Given the description of an element on the screen output the (x, y) to click on. 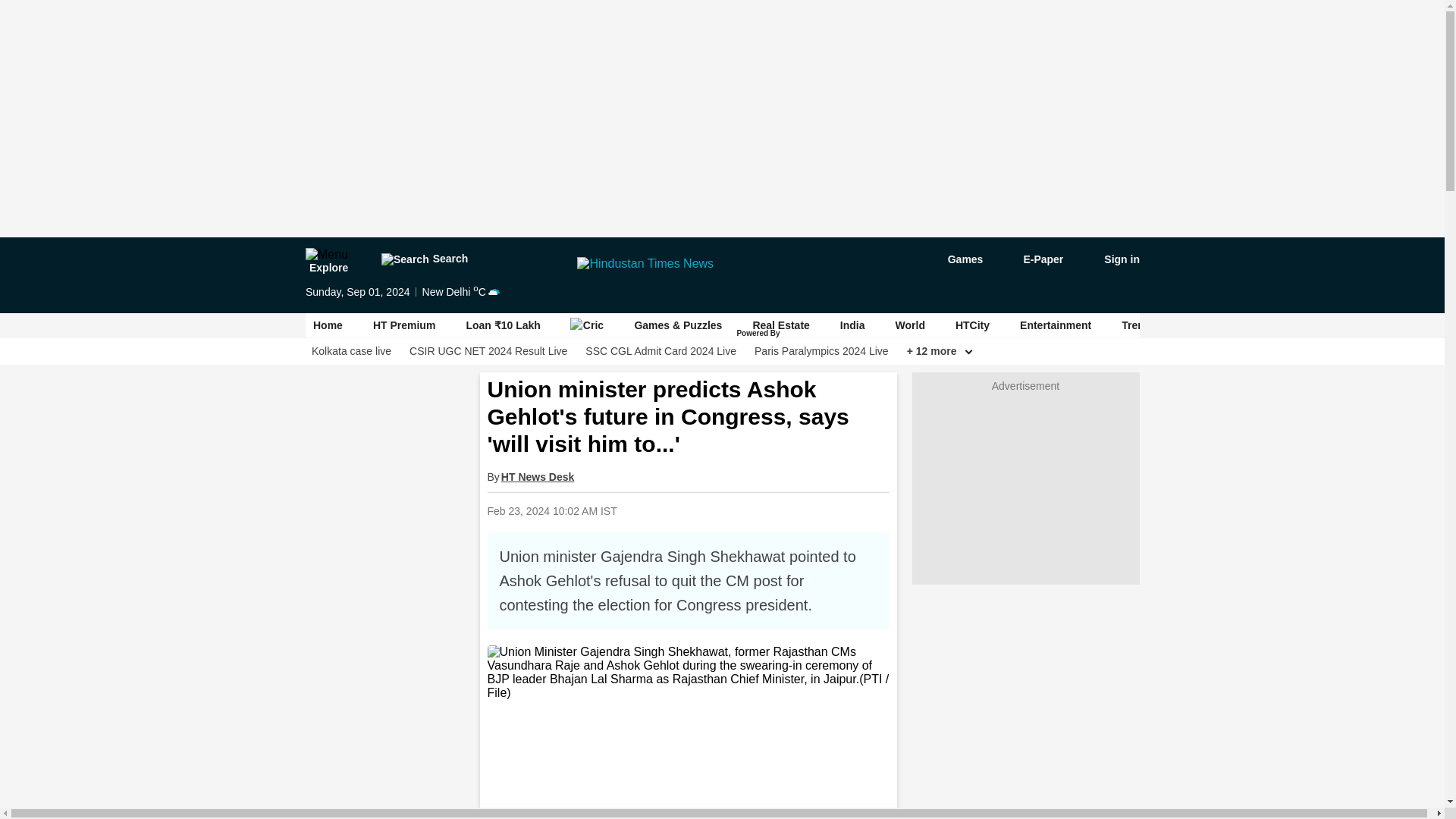
Astrology (1221, 325)
epaper (1034, 258)
Real Estate (780, 324)
Lifestyle (1297, 325)
Powered By (758, 333)
India (852, 325)
HTCity (971, 325)
game (954, 258)
Kolkata case live (350, 350)
Trending (1143, 325)
